Given the description of an element on the screen output the (x, y) to click on. 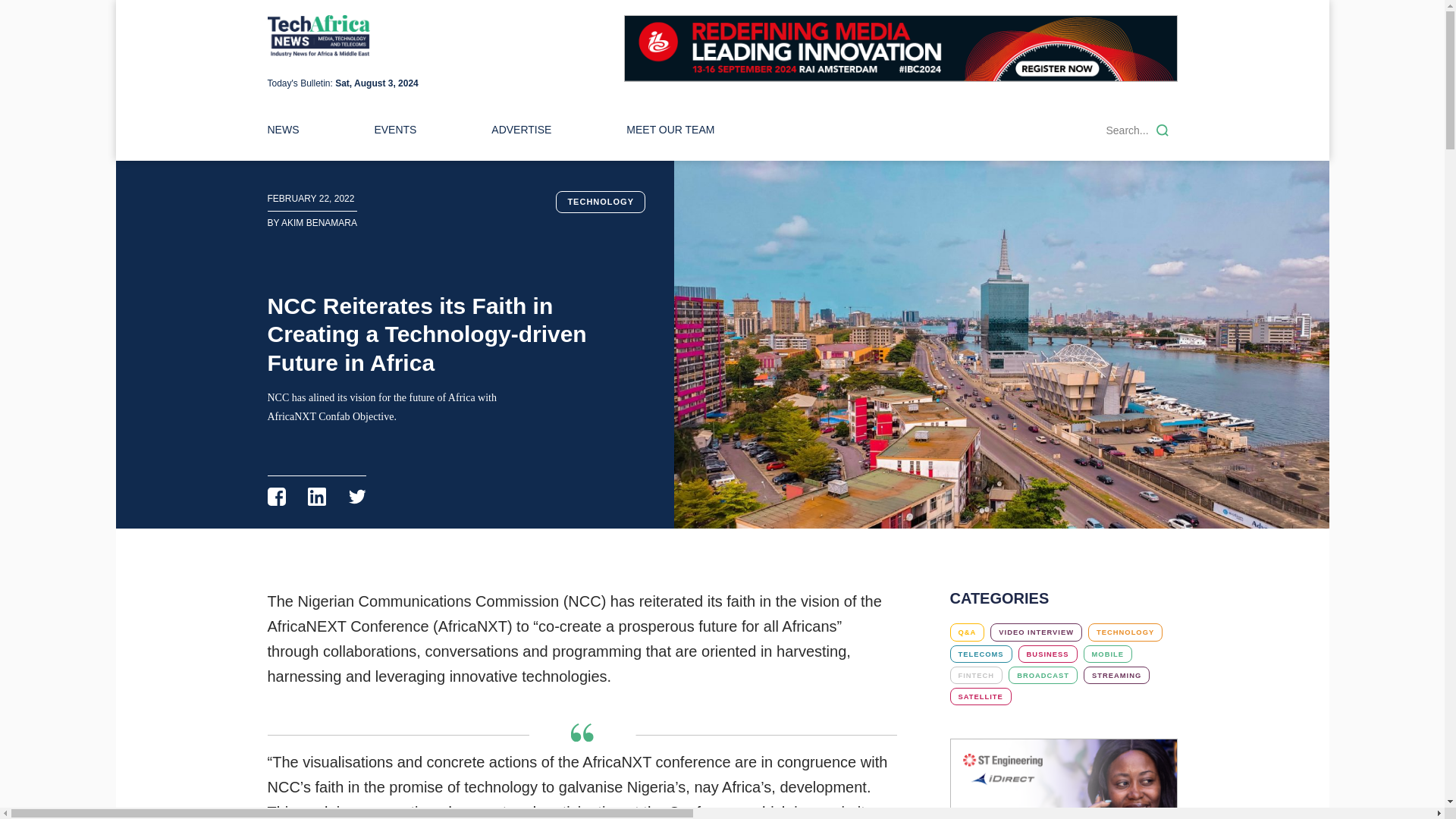
Search (1162, 130)
Search (1162, 130)
BUSINESS (1047, 653)
BROADCAST (1043, 674)
MEET OUR TEAM (670, 129)
STREAMING (1116, 674)
FINTECH (976, 674)
MEET OUR TEAM (670, 129)
ADVERTISE (521, 129)
VIDEO INTERVIEW (1035, 631)
TECHNOLOGY (1124, 631)
MOBILE (1107, 653)
ADVERTISE (521, 129)
SATELLITE (979, 696)
TELECOMS (980, 653)
